Given the description of an element on the screen output the (x, y) to click on. 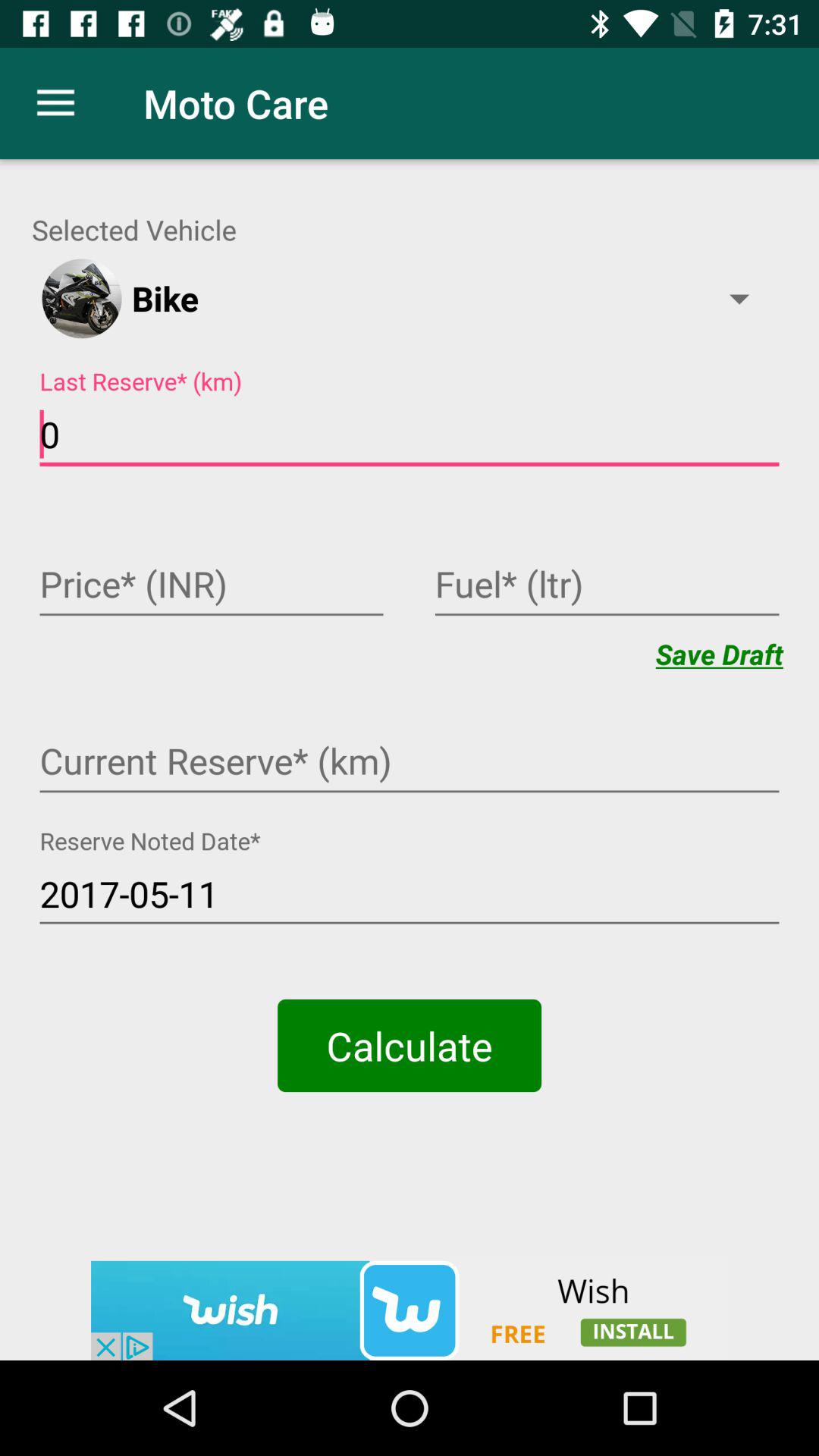
advertisement for wish (409, 1310)
